Given the description of an element on the screen output the (x, y) to click on. 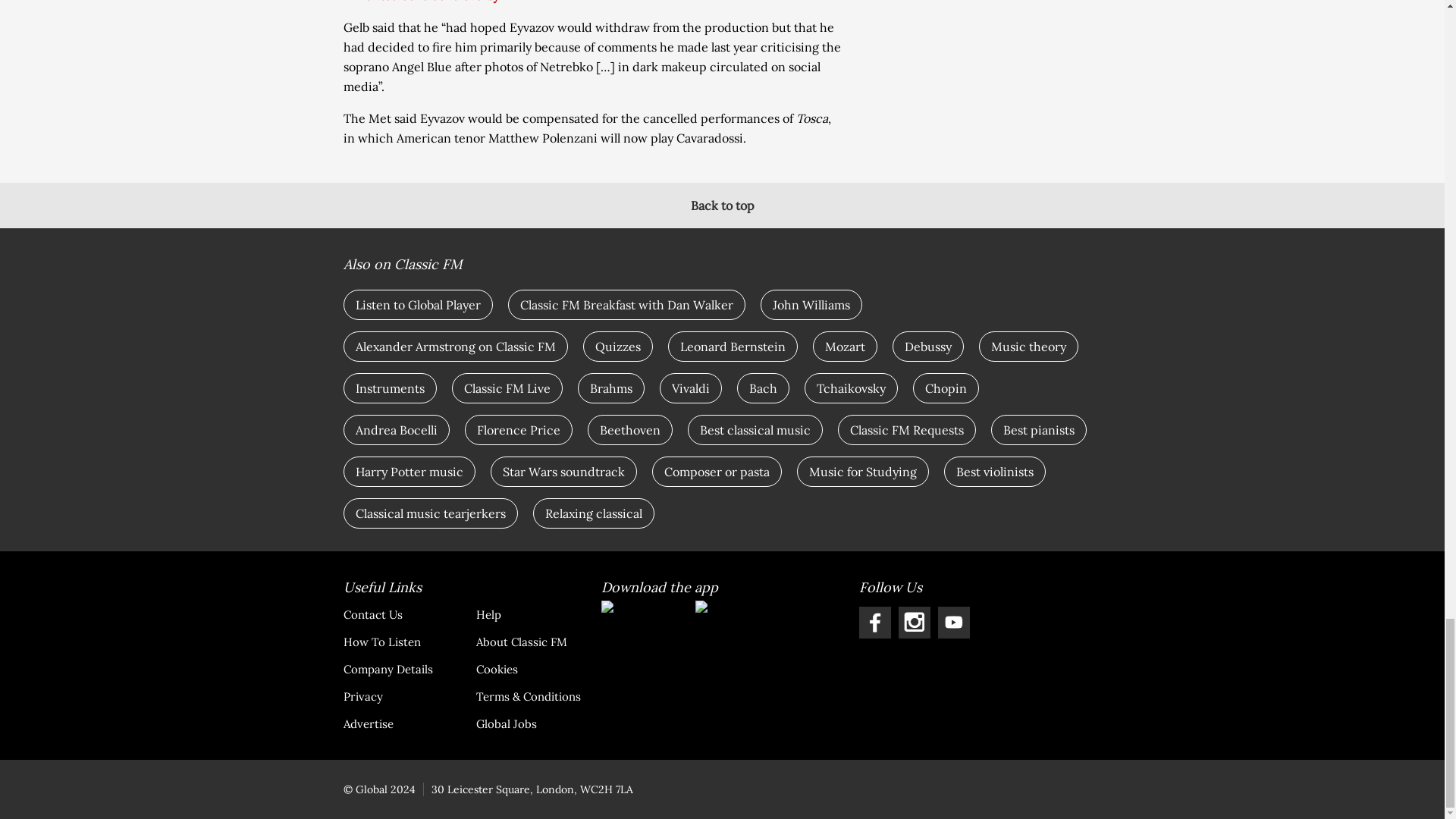
Back to top (722, 205)
Follow Classic FM on Facebook (874, 622)
Follow Classic FM on Instagram (914, 622)
Follow Classic FM on Youtube (953, 622)
